Given the description of an element on the screen output the (x, y) to click on. 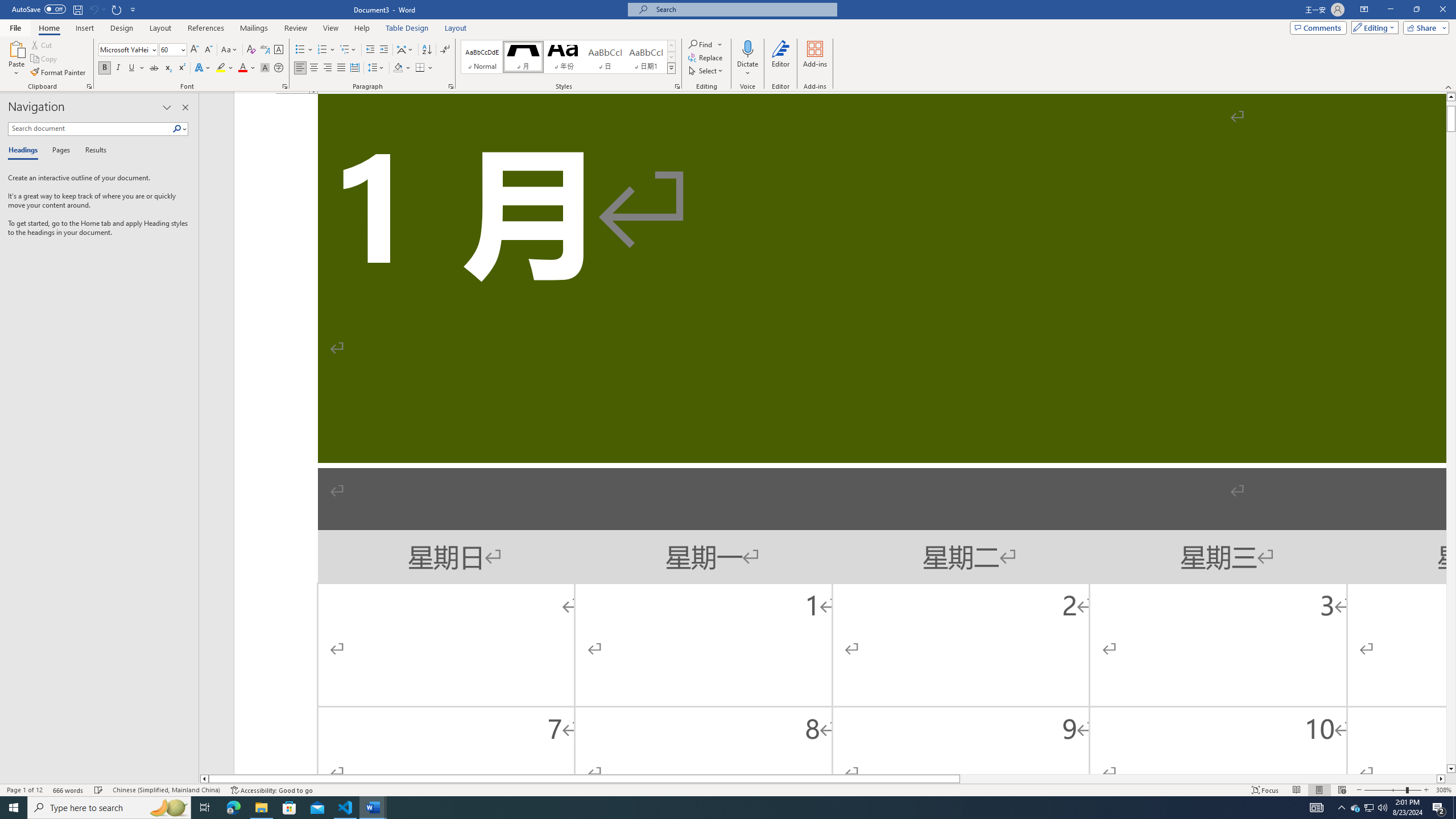
Column right (1441, 778)
Language Chinese (Simplified, Mainland China) (165, 790)
